Given the description of an element on the screen output the (x, y) to click on. 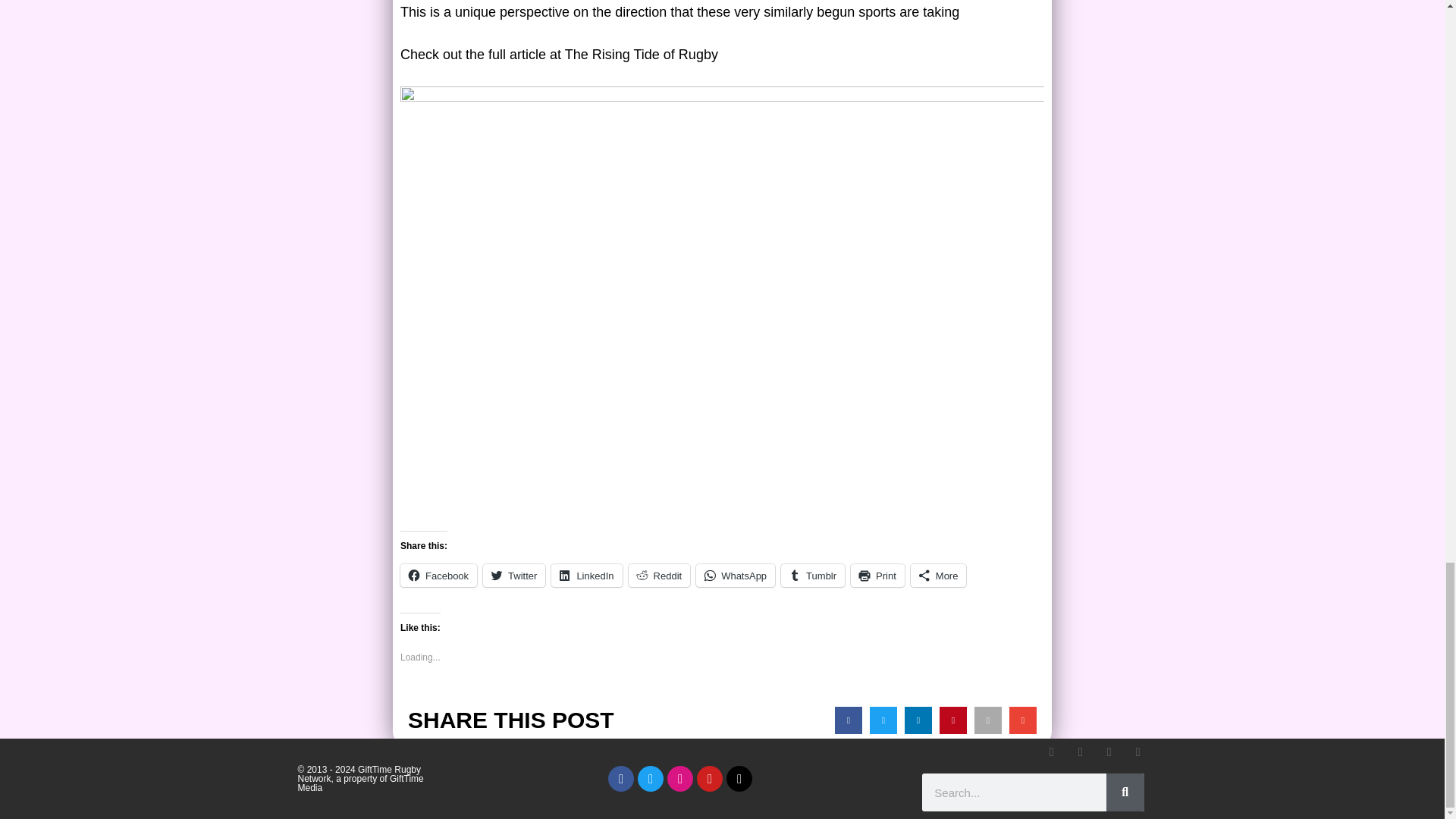
Click to print (877, 575)
Click to share on Reddit (659, 575)
Click to share on LinkedIn (586, 575)
Click to share on Facebook (438, 575)
Click to share on WhatsApp (734, 575)
Click to share on Twitter (513, 575)
Click to share on Tumblr (812, 575)
